Given the description of an element on the screen output the (x, y) to click on. 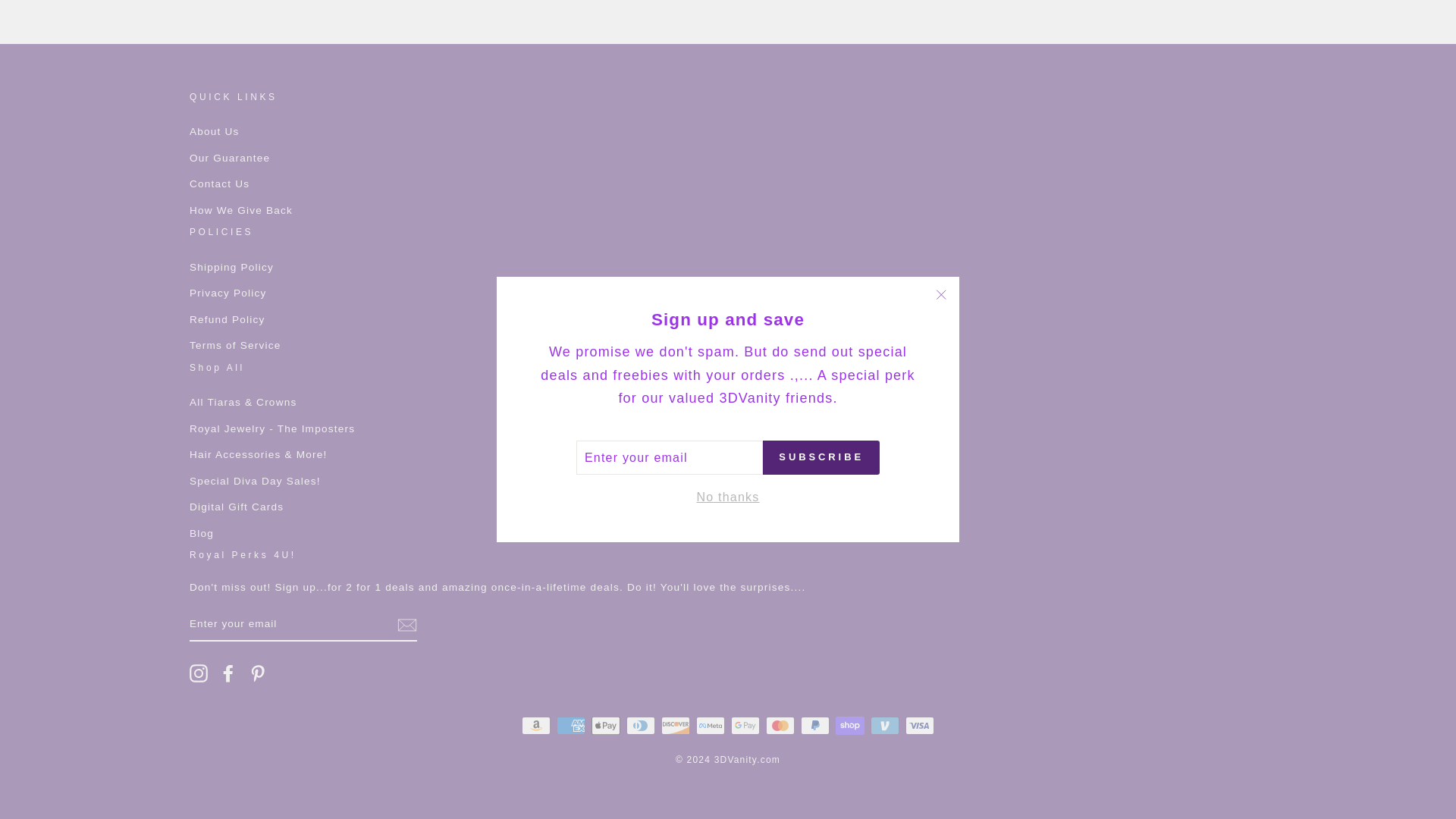
Visa (919, 725)
Meta Pay (710, 725)
Diners Club (640, 725)
Venmo (884, 725)
Shop Pay (849, 725)
Apple Pay (605, 725)
Amazon (535, 725)
PayPal (814, 725)
Discover (675, 725)
American Express (570, 725)
Mastercard (779, 725)
Google Pay (745, 725)
